Given the description of an element on the screen output the (x, y) to click on. 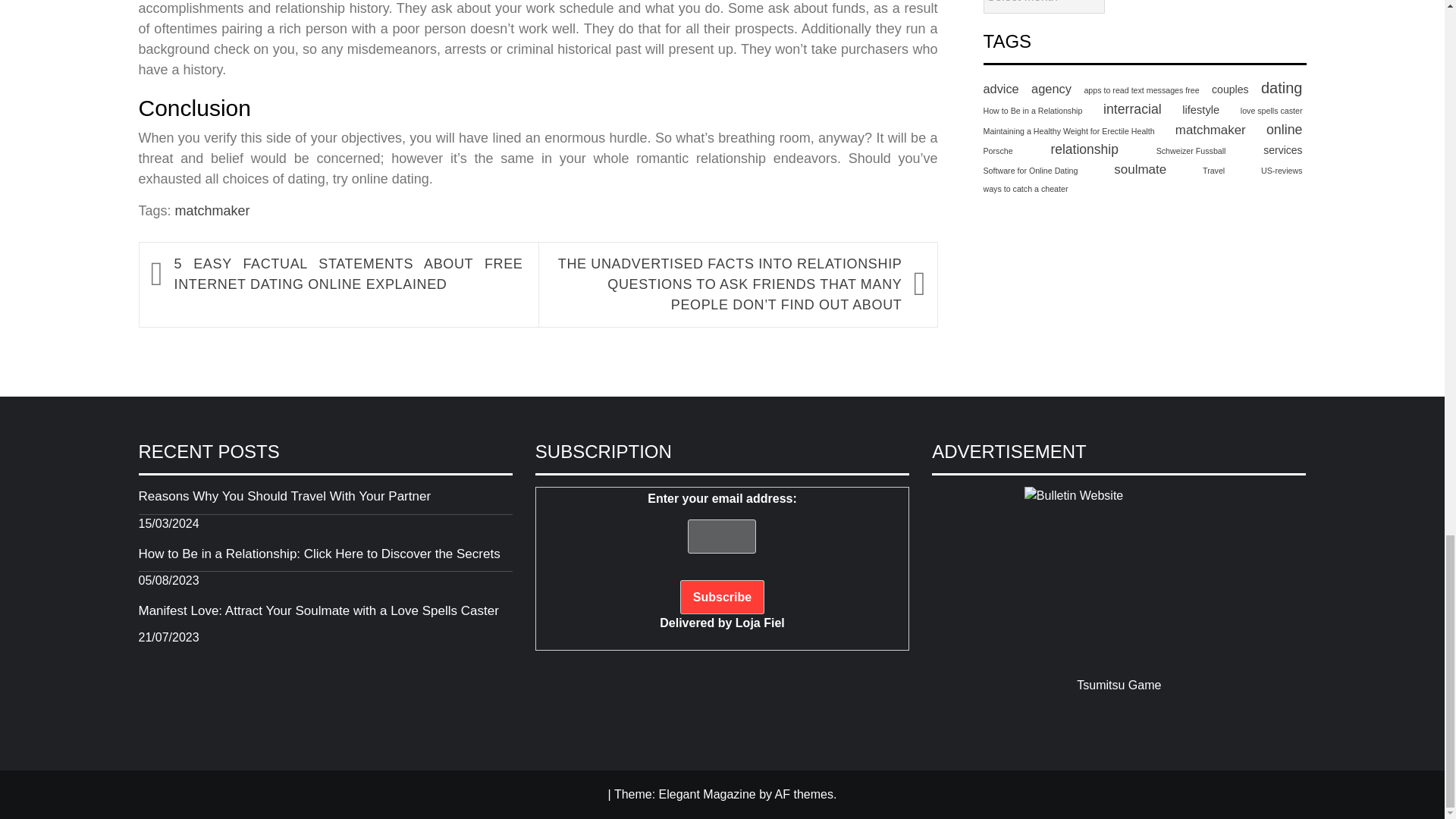
matchmaker (212, 210)
Subscribe (721, 596)
Bulletin Website (1119, 581)
